Given the description of an element on the screen output the (x, y) to click on. 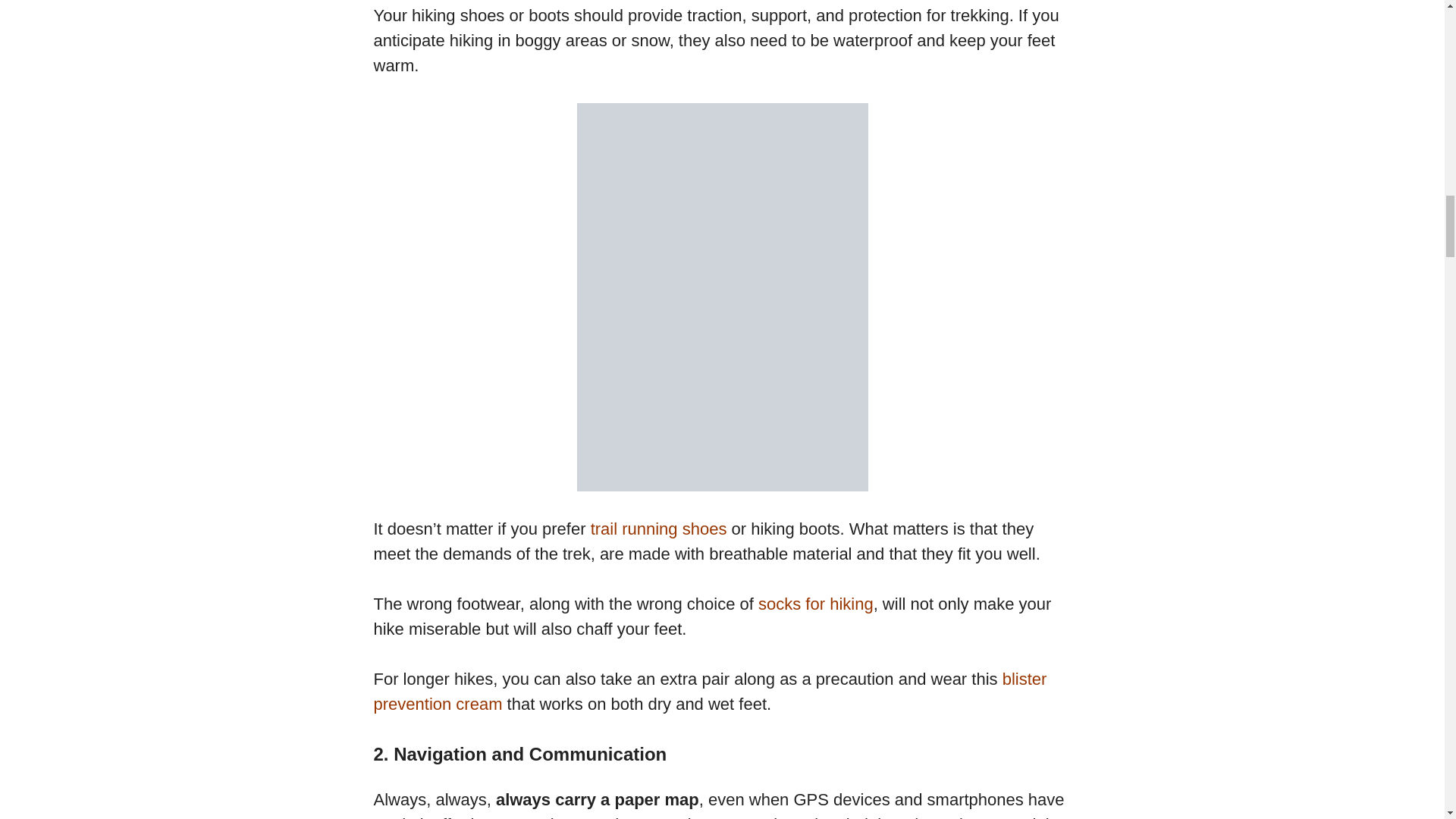
socks for hiking (815, 603)
trail running shoes (658, 528)
blister prevention cream (709, 691)
